Given the description of an element on the screen output the (x, y) to click on. 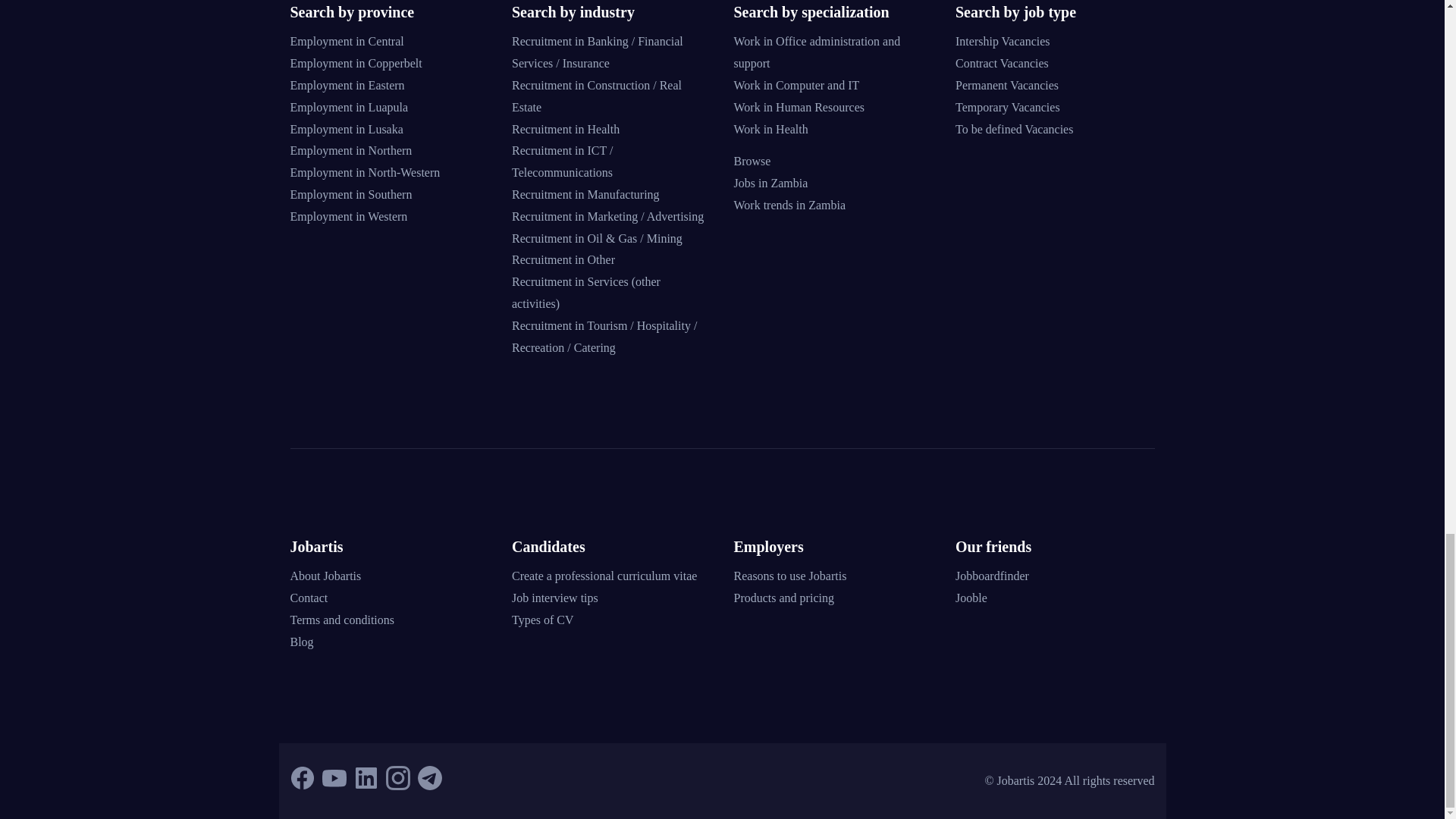
Employment in Copperbelt (355, 62)
Employment in North-Western (364, 172)
Recruitment in Other (563, 259)
Employment in Central (346, 41)
Employment in Western (348, 215)
Employment in Southern (350, 194)
Employment in Eastern (346, 84)
Employment in Northern (350, 150)
Work in Office administration and support (817, 52)
Employment in Lusaka (346, 128)
Employment in Luapula (348, 106)
Recruitment in Health (566, 128)
Work in Computer and IT (796, 84)
Recruitment in Manufacturing (585, 194)
